Given the description of an element on the screen output the (x, y) to click on. 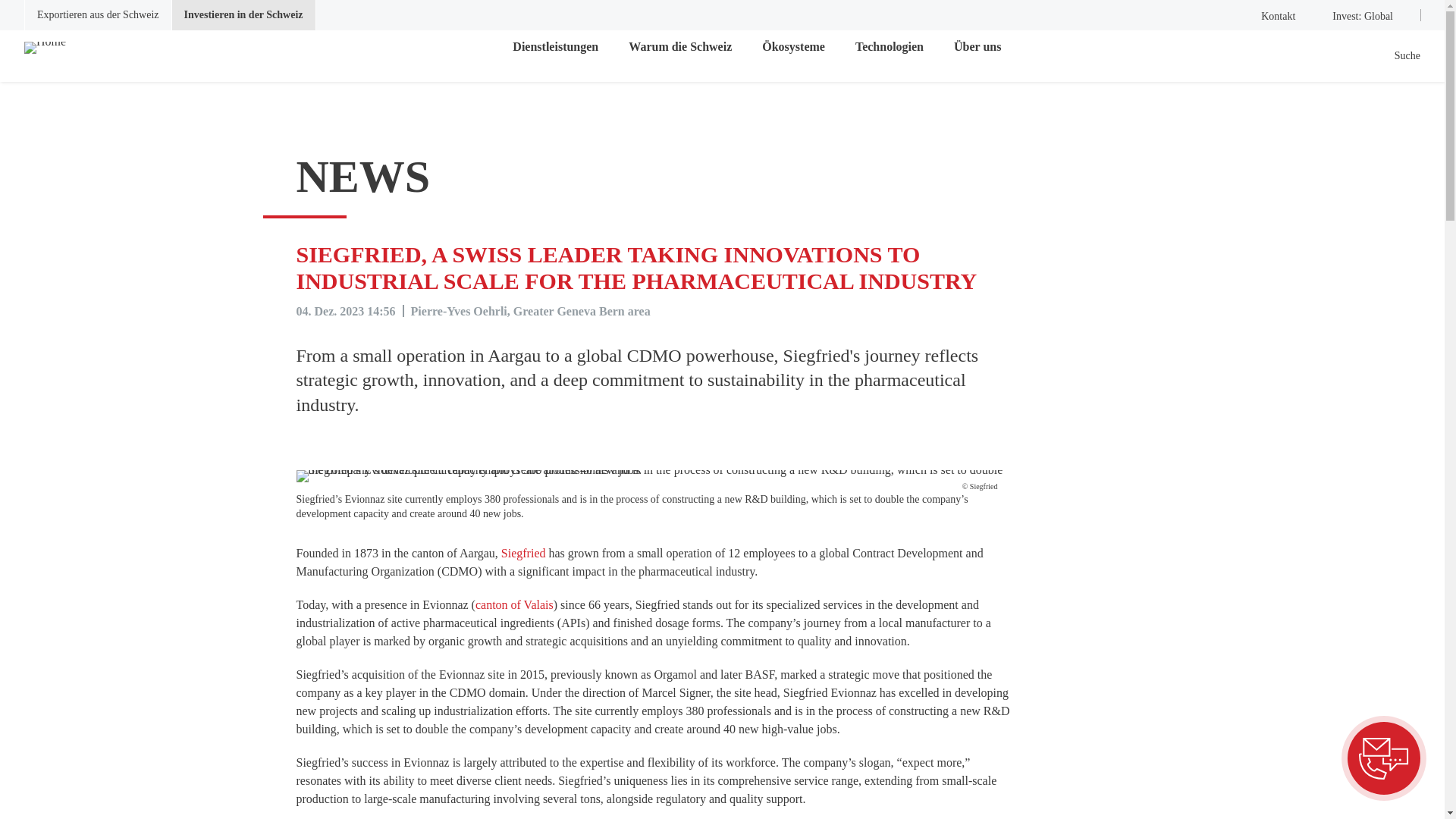
Kontakt (1268, 15)
Exportieren aus der Schweiz (97, 15)
Investieren in der Schweiz (243, 15)
